Given the description of an element on the screen output the (x, y) to click on. 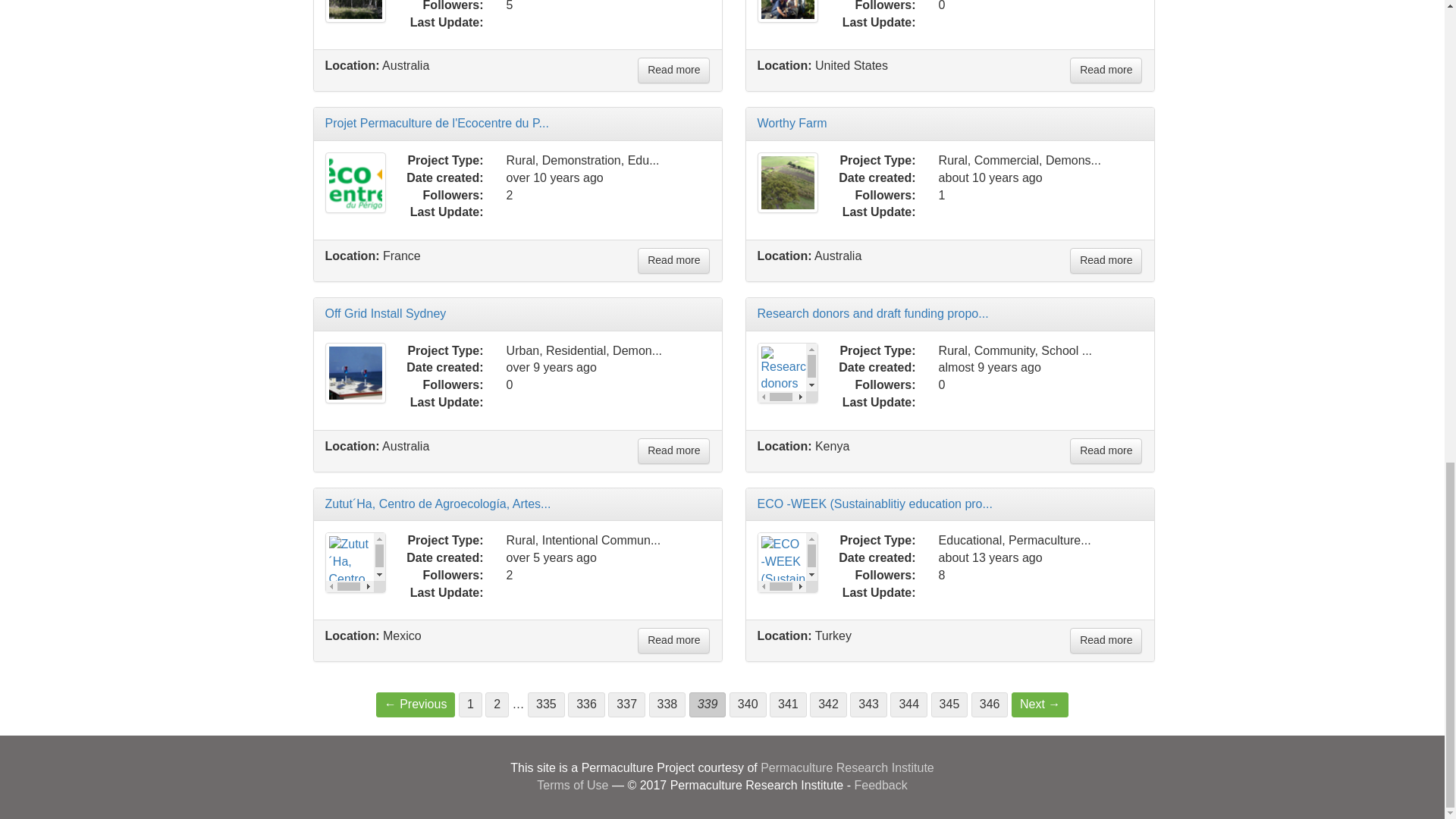
Worthy Farm (786, 182)
The Habitat (354, 11)
Research donors and draft funding proposals (786, 373)
Off Grid Install Sydney (354, 373)
Fargo Forest Garden (786, 11)
Read more (673, 70)
